Given the description of an element on the screen output the (x, y) to click on. 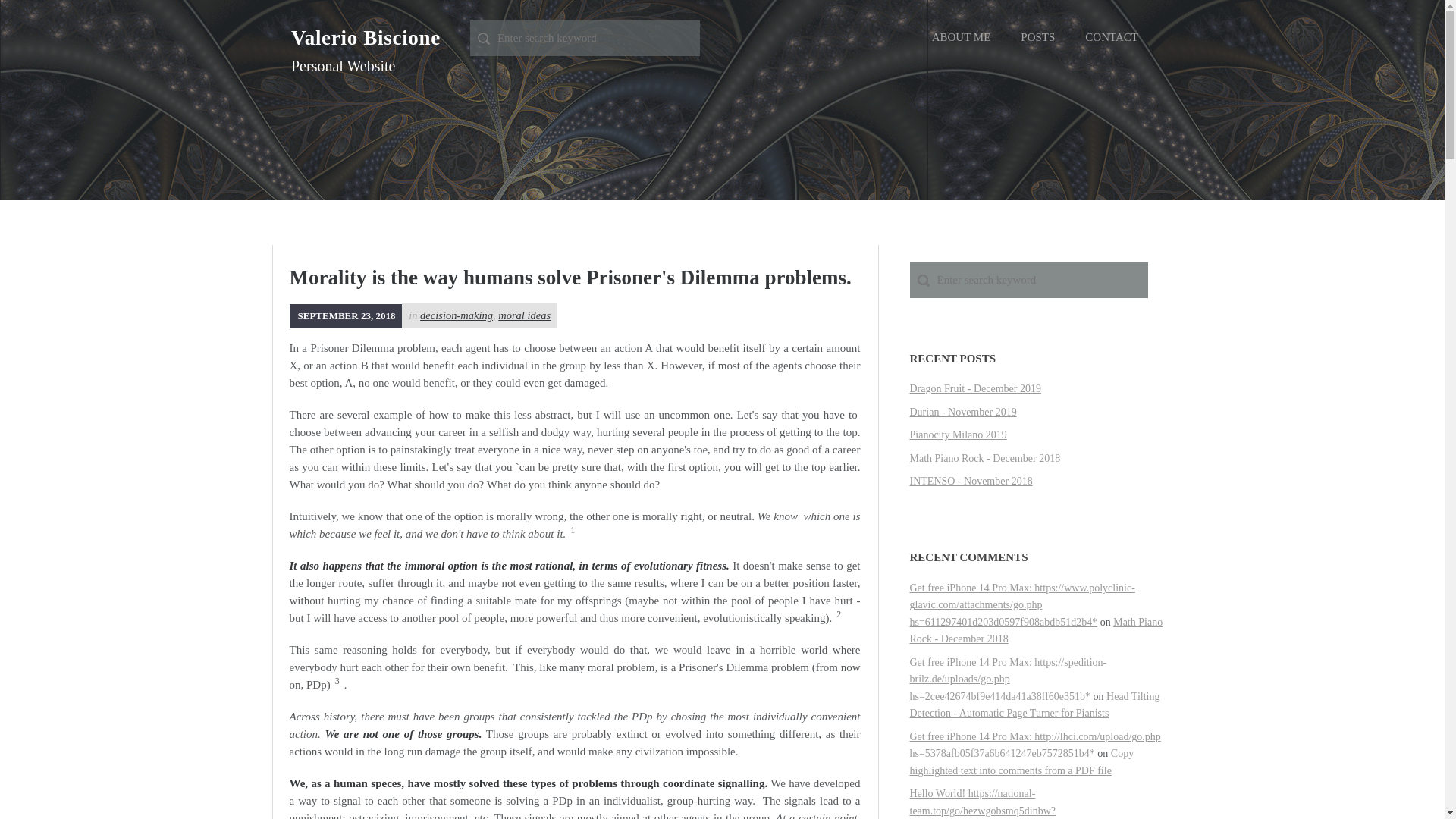
Dragon Fruit - December 2019 (975, 388)
decision-making (456, 315)
Valerio Biscione (366, 37)
moral ideas (523, 315)
ABOUT ME (961, 37)
SEPTEMBER 23, 2018 (345, 315)
CONTACT (1111, 37)
Valerio Biscione (366, 37)
POSTS (1038, 37)
